Given the description of an element on the screen output the (x, y) to click on. 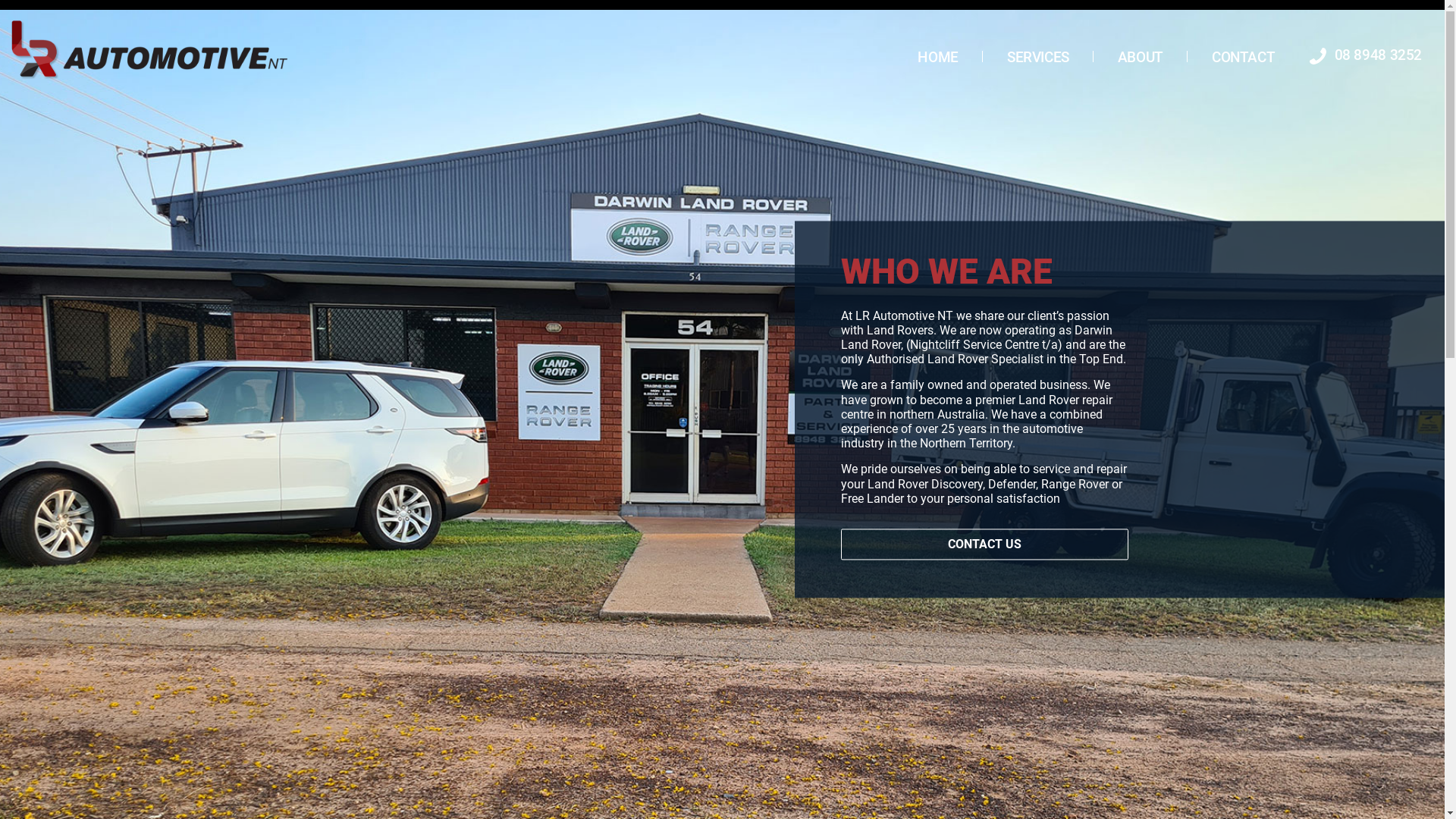
SERVICES Element type: text (1037, 56)
CONTACT Element type: text (1243, 56)
HOME Element type: text (937, 56)
08 8948 3252 Element type: text (1365, 54)
CONTACT US Element type: text (983, 543)
ABOUT Element type: text (1140, 56)
